Given the description of an element on the screen output the (x, y) to click on. 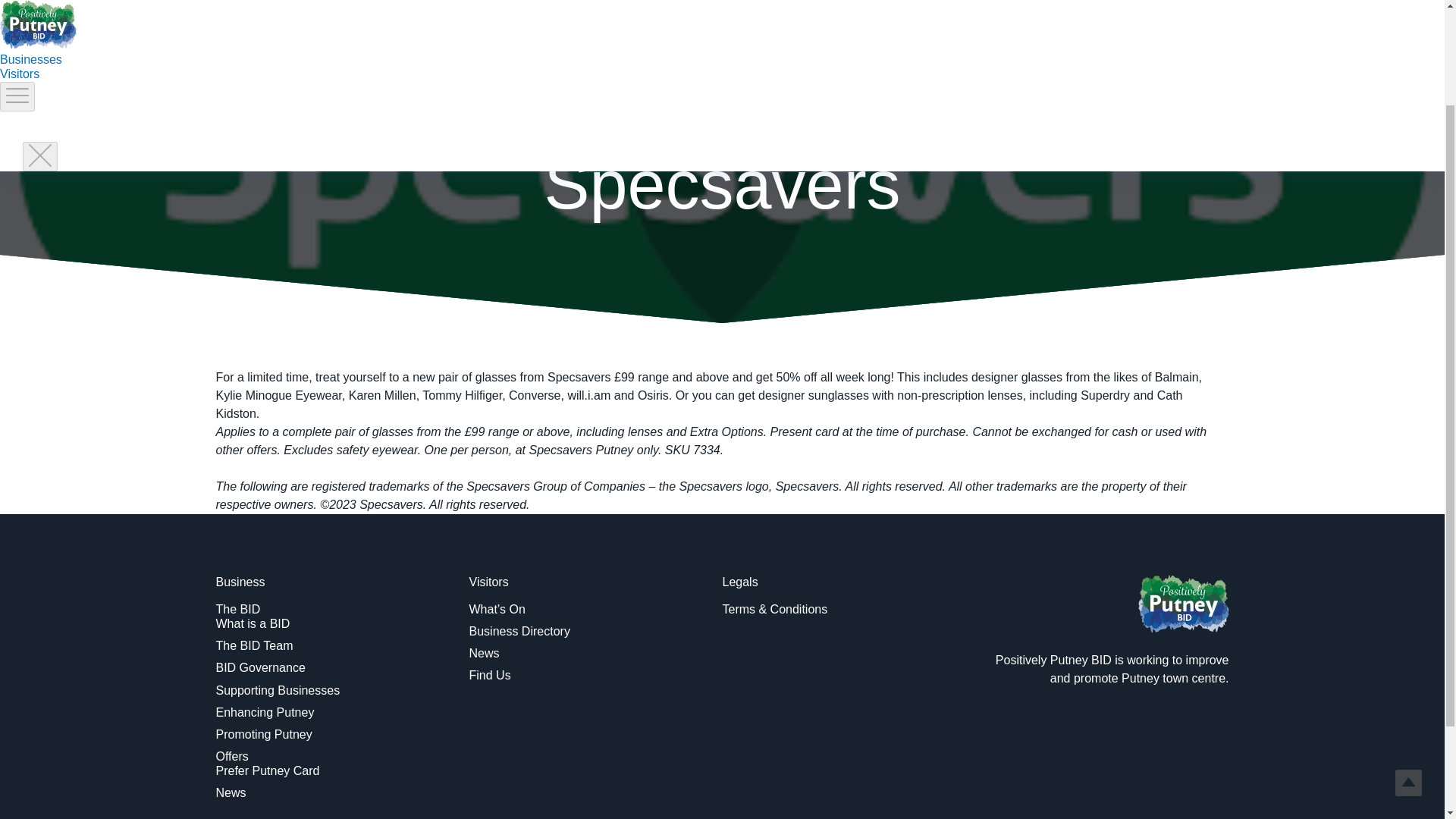
What is a BID (252, 623)
Promoting Putney (263, 734)
Enhancing Putney (264, 712)
News (230, 792)
Business Directory (518, 631)
The BID Team (253, 645)
News (483, 653)
Top (1408, 658)
BID Governance (259, 667)
Offers (231, 756)
